Given the description of an element on the screen output the (x, y) to click on. 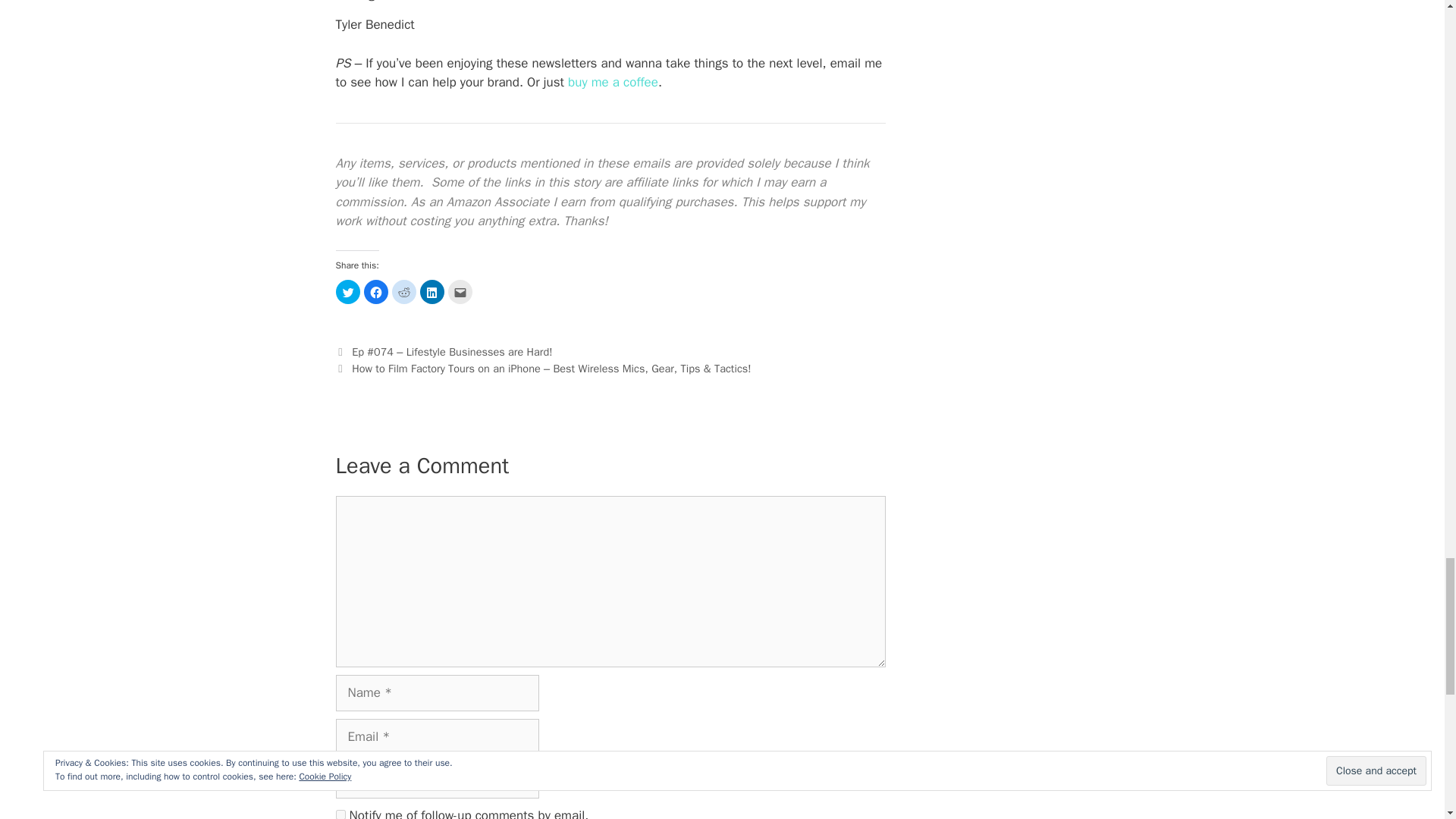
buy me a coffee (612, 82)
Click to share on LinkedIn (432, 291)
Click to share on Reddit (402, 291)
Click to email this to a friend (458, 291)
Click to share on Twitter (346, 291)
Click to share on Facebook (376, 291)
subscribe (339, 814)
